Given the description of an element on the screen output the (x, y) to click on. 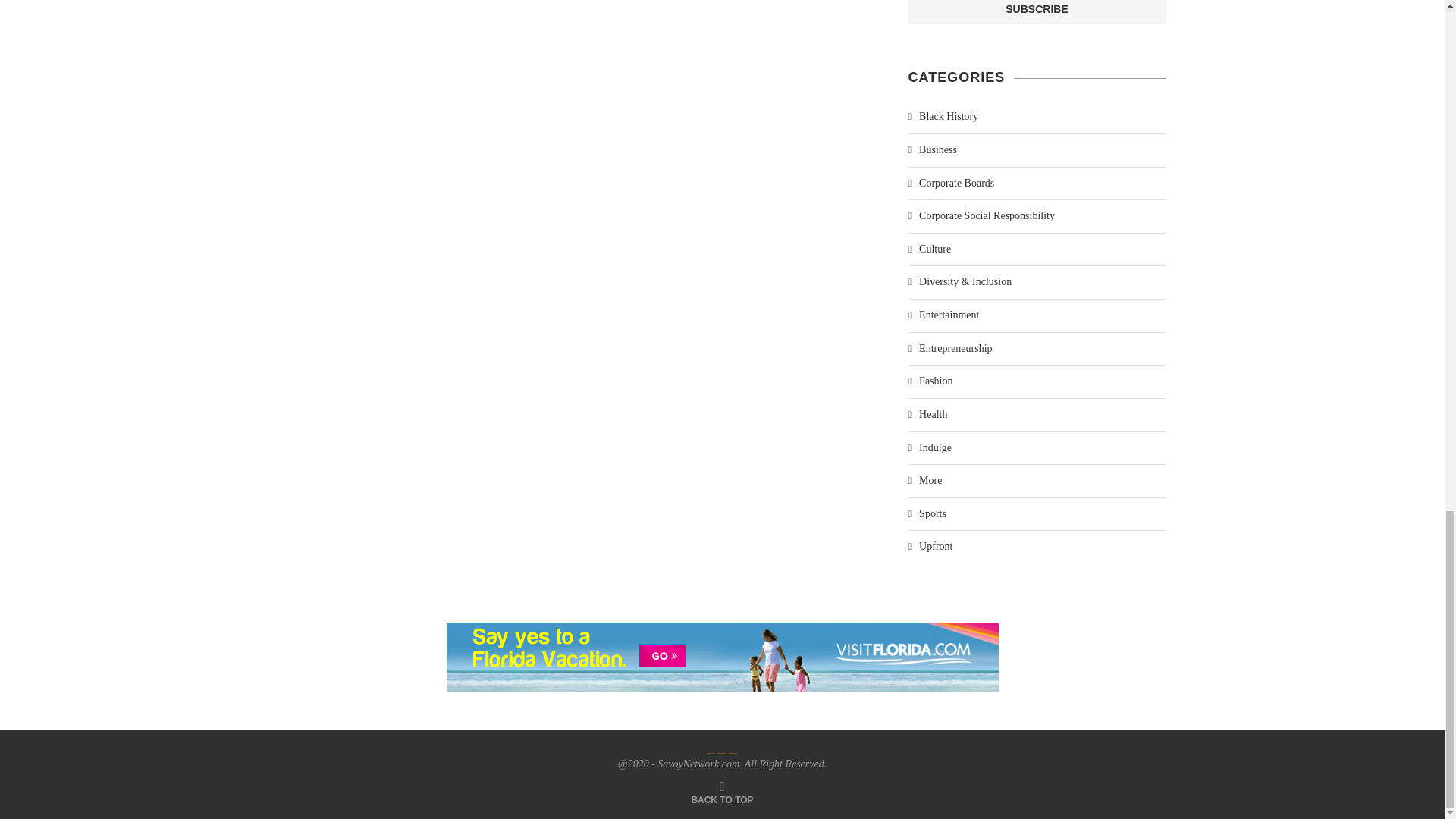
Subscribe (1037, 11)
